Given the description of an element on the screen output the (x, y) to click on. 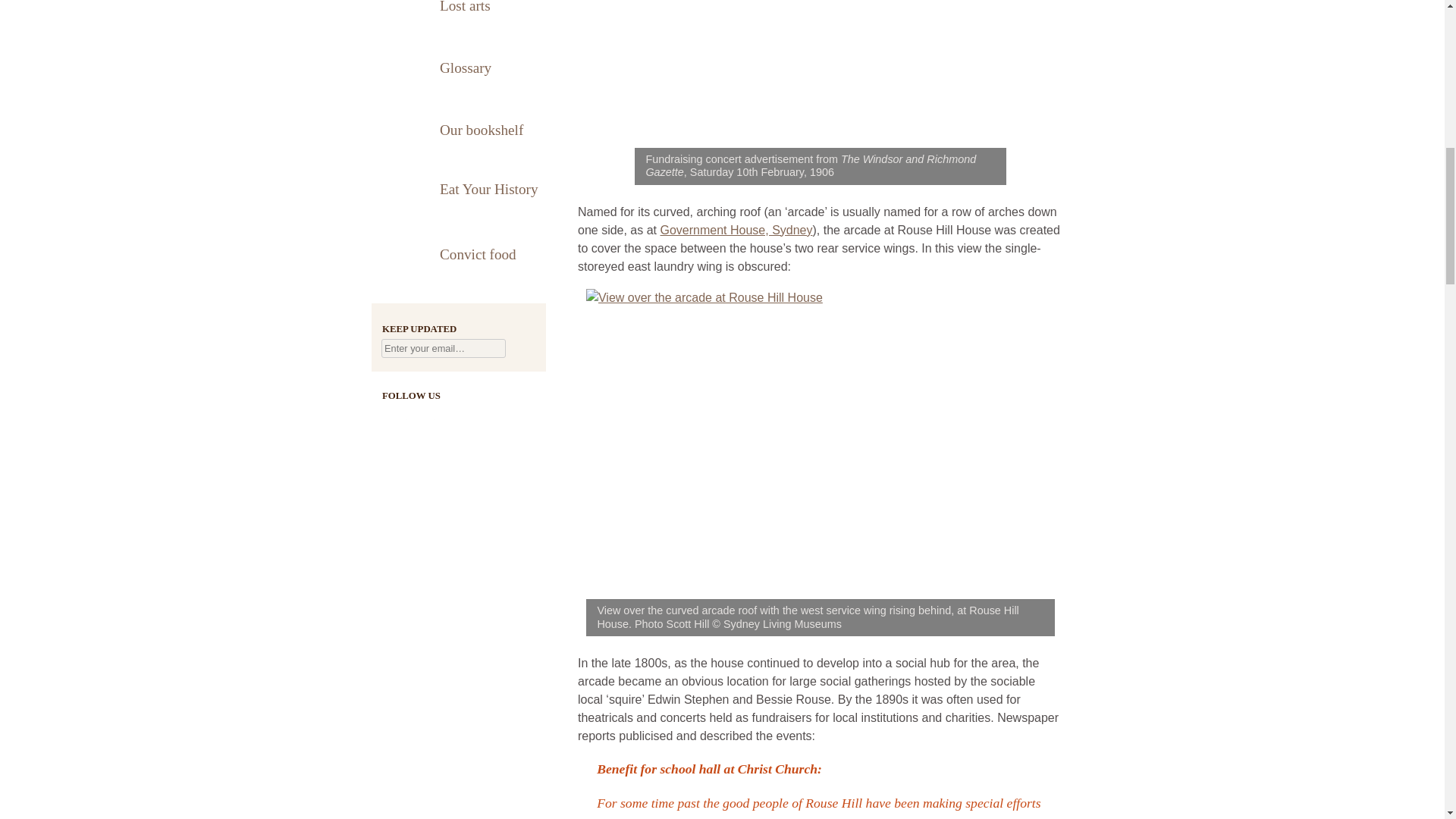
Government House, Sydney (735, 228)
Go (522, 348)
Our bookshelf (458, 129)
Lost arts (458, 18)
Find us on Facebook (394, 417)
Read more about Government House (735, 228)
Follow us on Twitter (422, 417)
See more videos on Vimeo (478, 417)
Follow us on Twitter (422, 417)
